Given the description of an element on the screen output the (x, y) to click on. 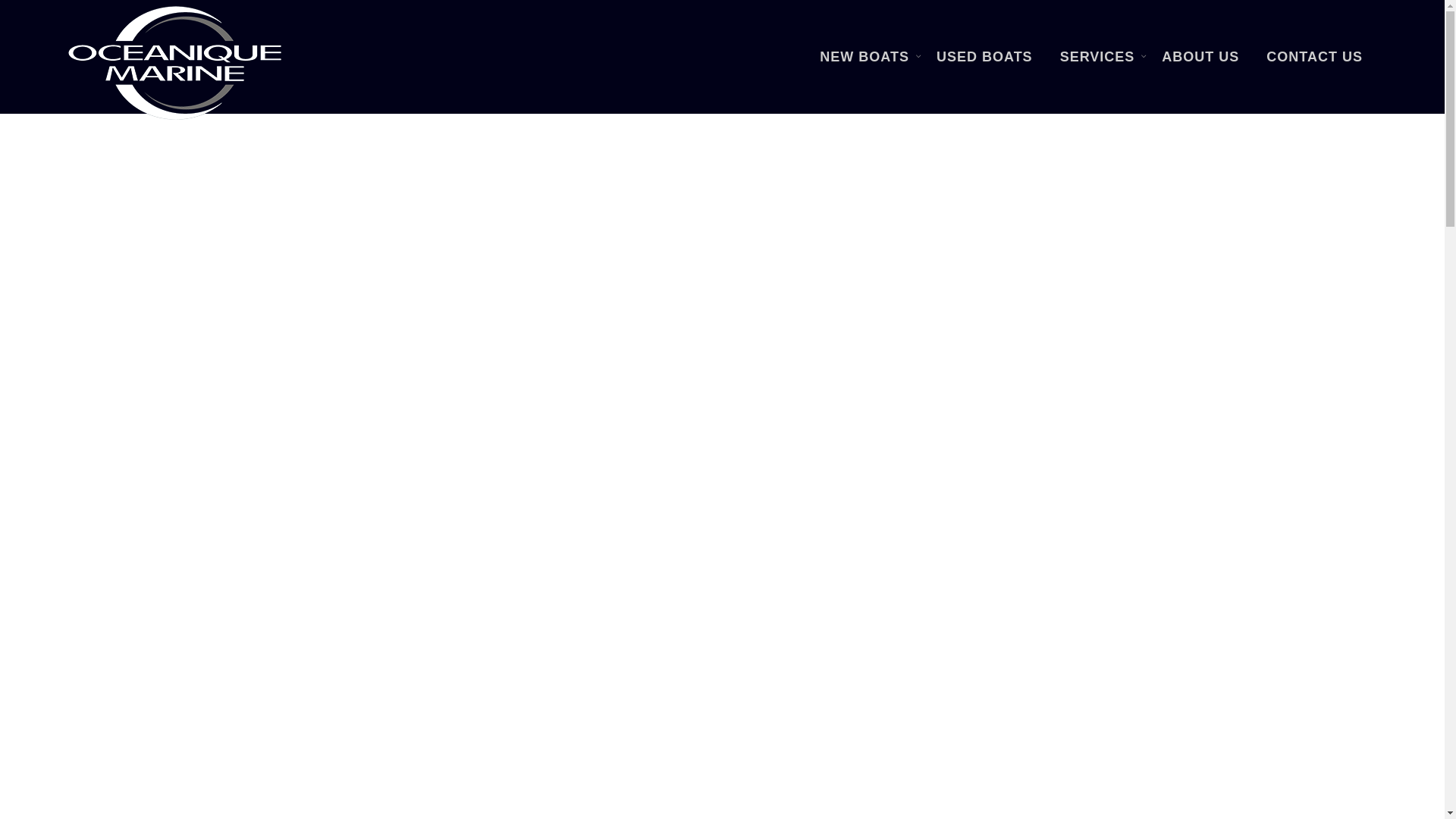
NEW BOATS Element type: text (864, 56)
ABOUT US Element type: text (1200, 56)
USED BOATS Element type: text (984, 56)
CONTACT US Element type: text (1314, 56)
SERVICES Element type: text (1097, 56)
